Given the description of an element on the screen output the (x, y) to click on. 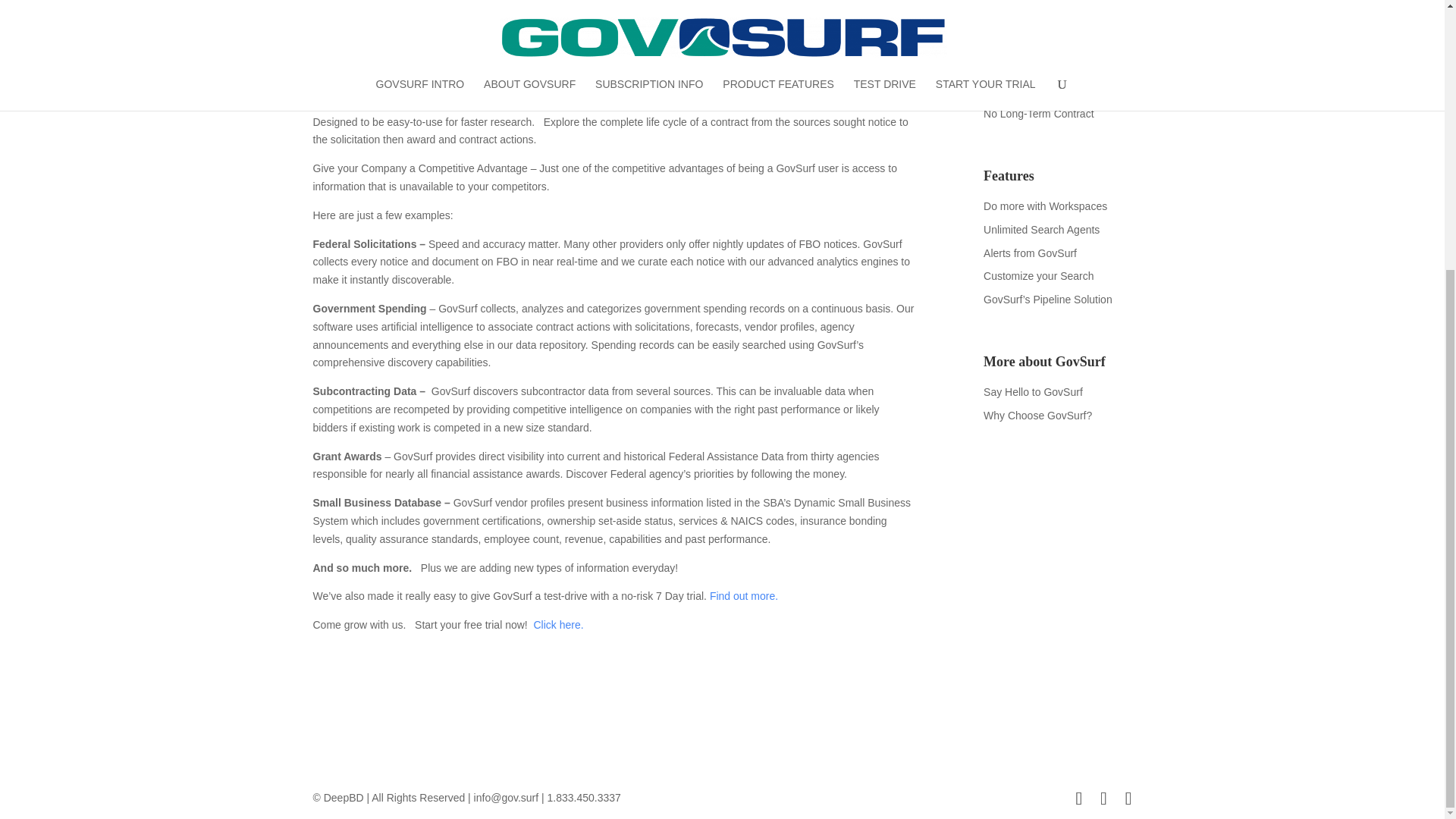
No Long-Term Contract (1039, 113)
Unlimited Search Agents (1041, 229)
No-Risk Trial (1013, 67)
Do more with Workspaces (1045, 205)
Click here. (558, 624)
Find out more. (743, 595)
Say Hello to GovSurf (1033, 391)
A Limited Time Offer (1032, 90)
Customize your Search (1039, 275)
Why Choose GovSurf? (1038, 415)
our limited time offer. (558, 92)
Alerts from GovSurf (1030, 253)
